Given the description of an element on the screen output the (x, y) to click on. 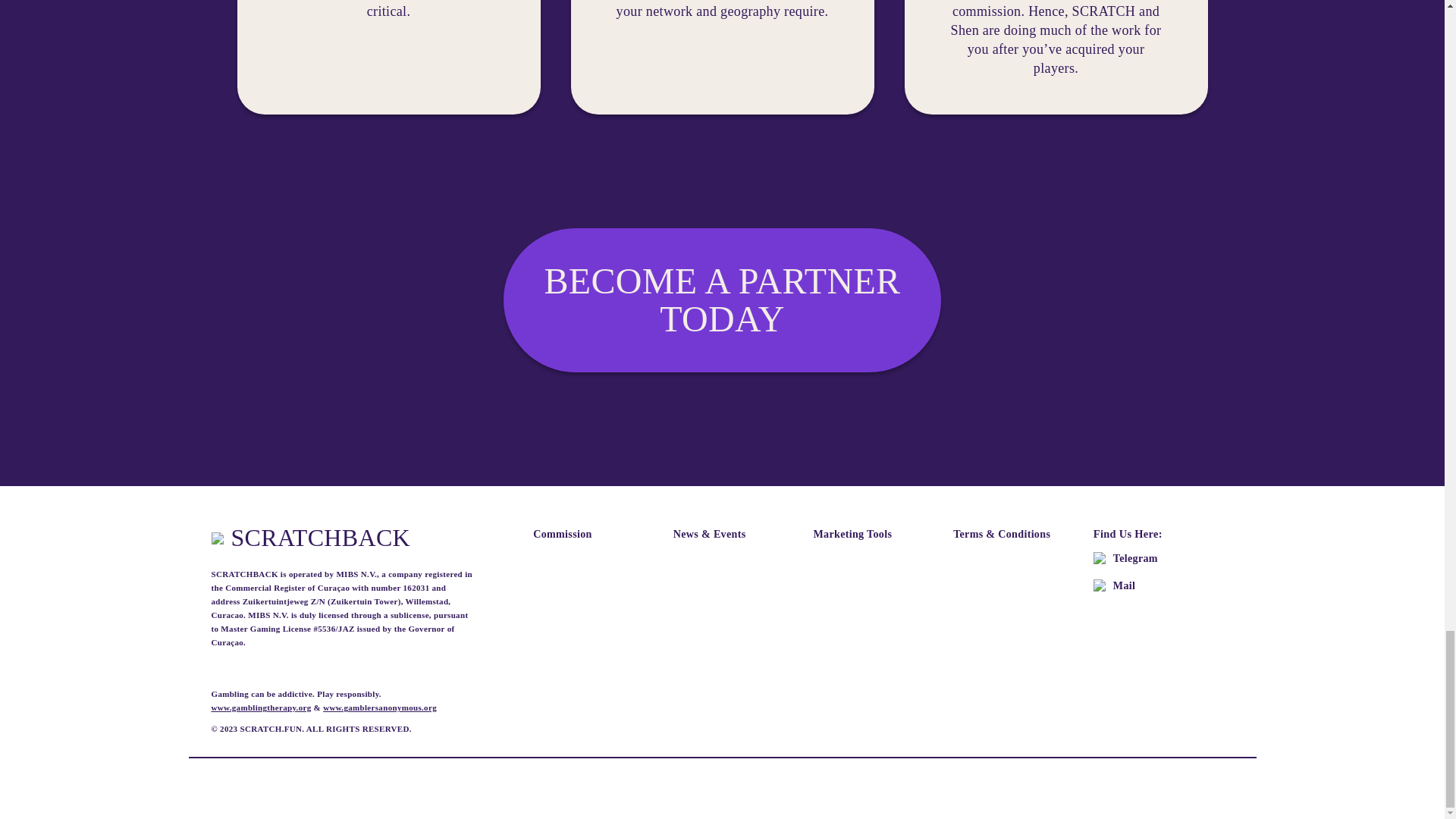
BECOME A PARTNER TODAY (721, 300)
Mail (1153, 585)
Commission (592, 533)
www.gamblersanonymous.org (379, 706)
Marketing Tools (873, 533)
www.gamblingtherapy.org (261, 706)
Telegram (1153, 557)
